Given the description of an element on the screen output the (x, y) to click on. 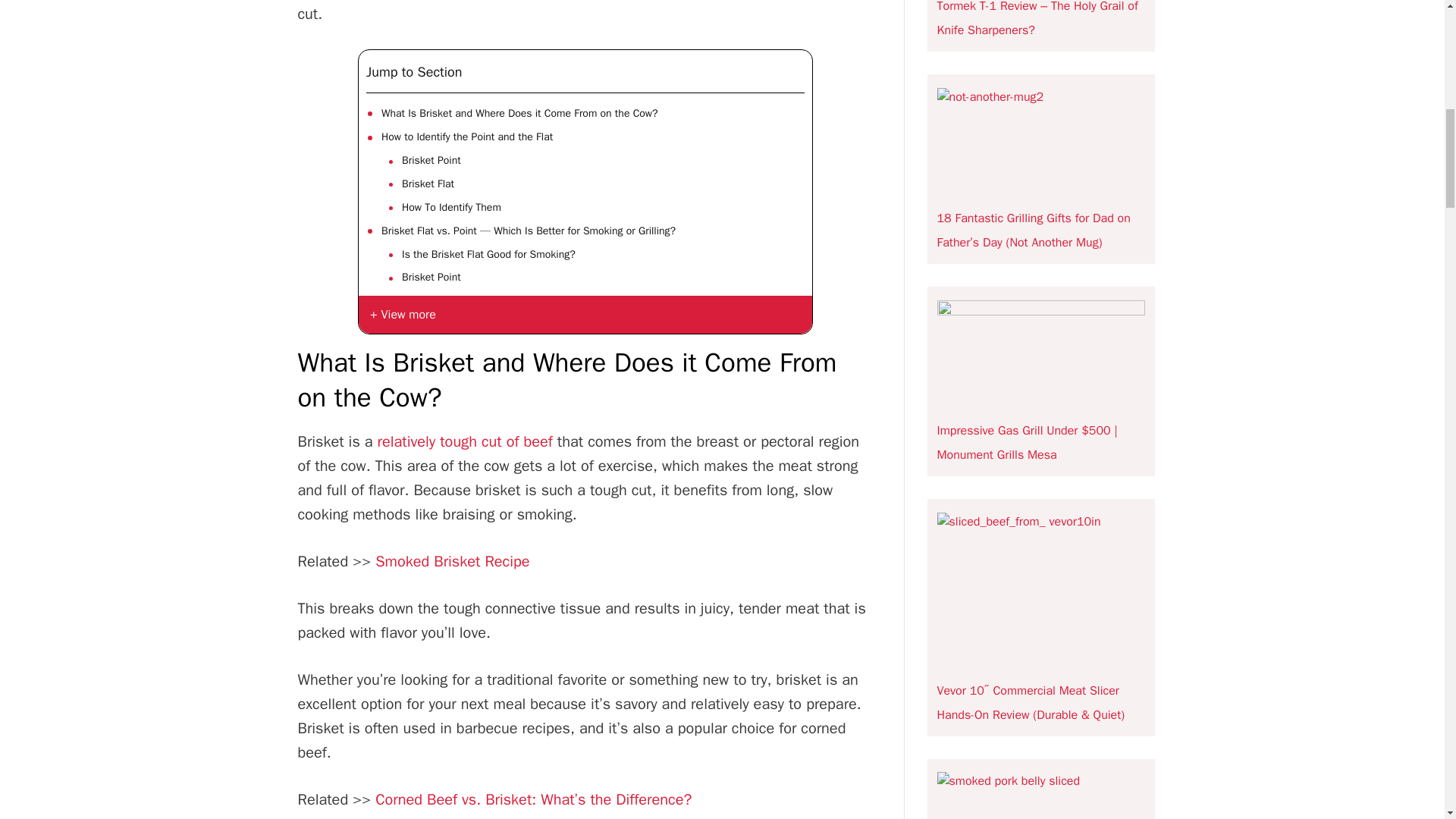
How to Identify the Point and the Flat (467, 136)
Brisket Point (431, 277)
Smoked Brisket Recipe (452, 561)
How To Identify Them (450, 207)
relatively tough cut of beef (465, 441)
Is the Brisket Flat Good for Smoking? (488, 254)
Brisket Point (431, 277)
View more (585, 314)
Brisket Flat (427, 184)
Brisket Point (431, 160)
How To Identify Them (450, 207)
Brisket Flat (427, 184)
How to Identify the Point and the Flat (467, 136)
Is the Brisket Flat Good for Smoking? (488, 254)
What Is Brisket and Where Does it Come From on the Cow? (519, 113)
